Given the description of an element on the screen output the (x, y) to click on. 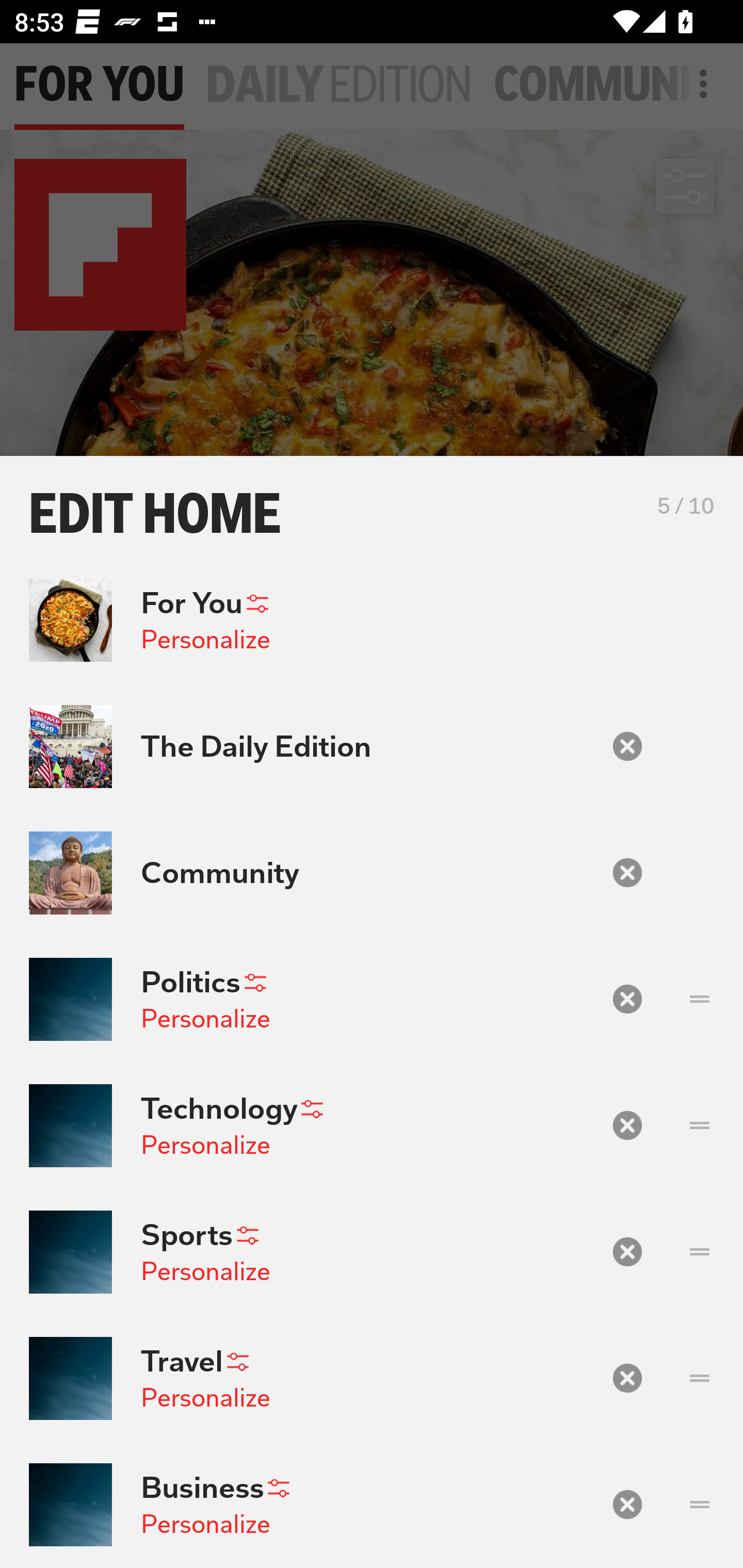
Personalize (205, 639)
Personalize (205, 1018)
Personalize (205, 1144)
Personalize (205, 1271)
Personalize (205, 1397)
Personalize (205, 1523)
